Given the description of an element on the screen output the (x, y) to click on. 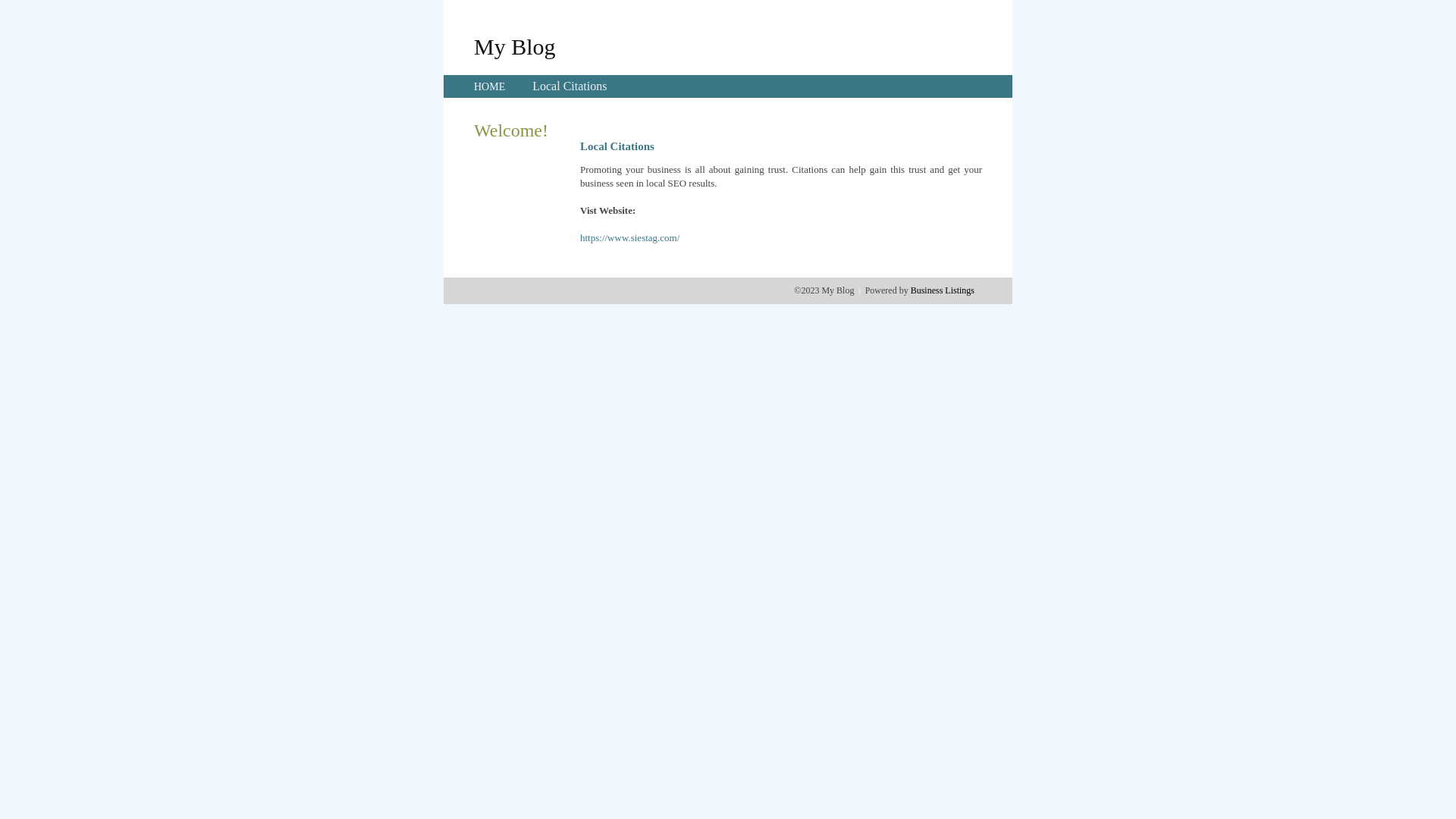
My Blog Element type: text (514, 46)
HOME Element type: text (489, 86)
Business Listings Element type: text (942, 290)
https://www.siestag.com/ Element type: text (629, 237)
Local Citations Element type: text (569, 85)
